Given the description of an element on the screen output the (x, y) to click on. 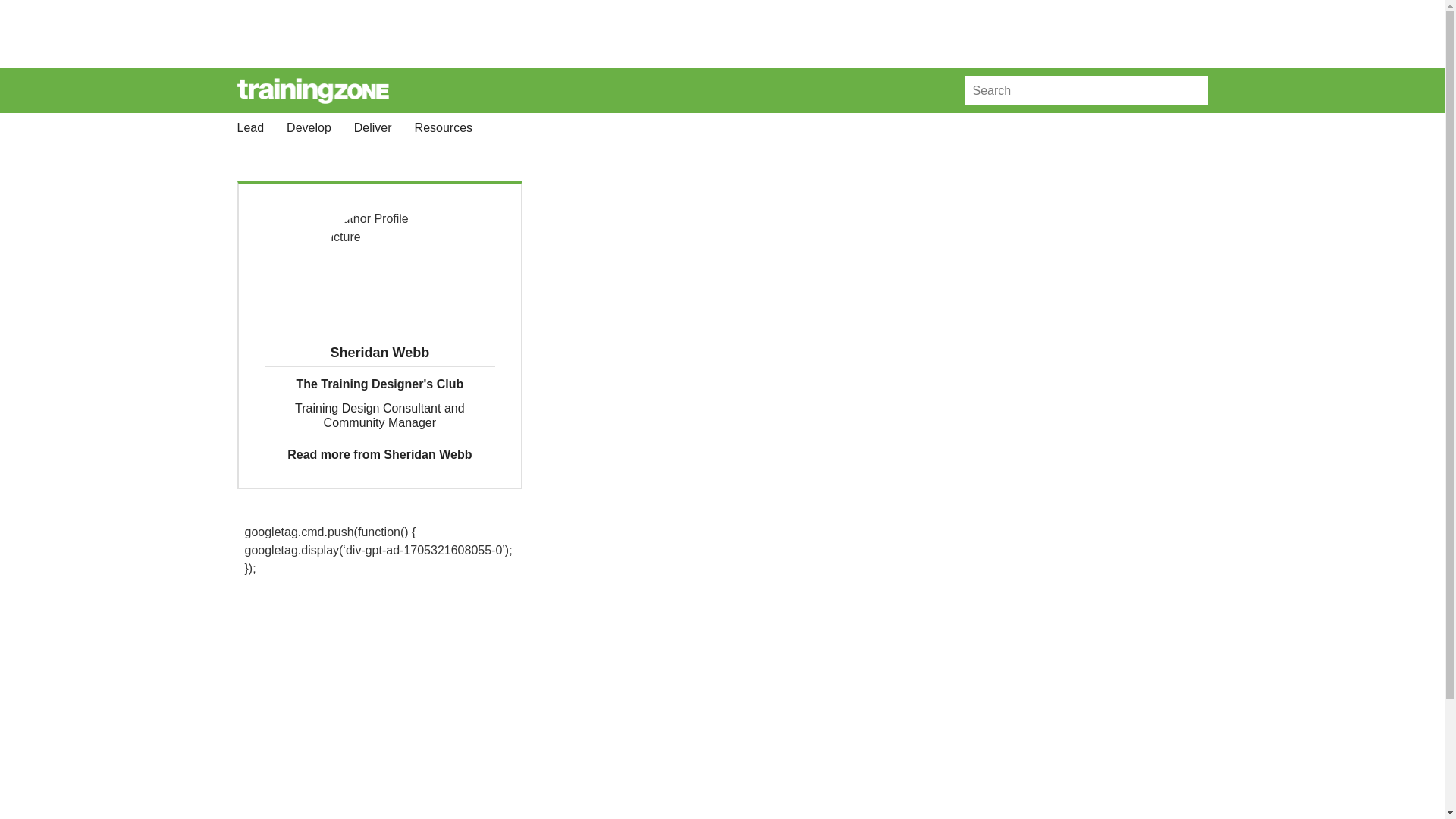
Deliver (372, 127)
Resources (442, 127)
Read more from Sheridan Webb (378, 454)
Develop (308, 127)
Lead (249, 127)
